Given the description of an element on the screen output the (x, y) to click on. 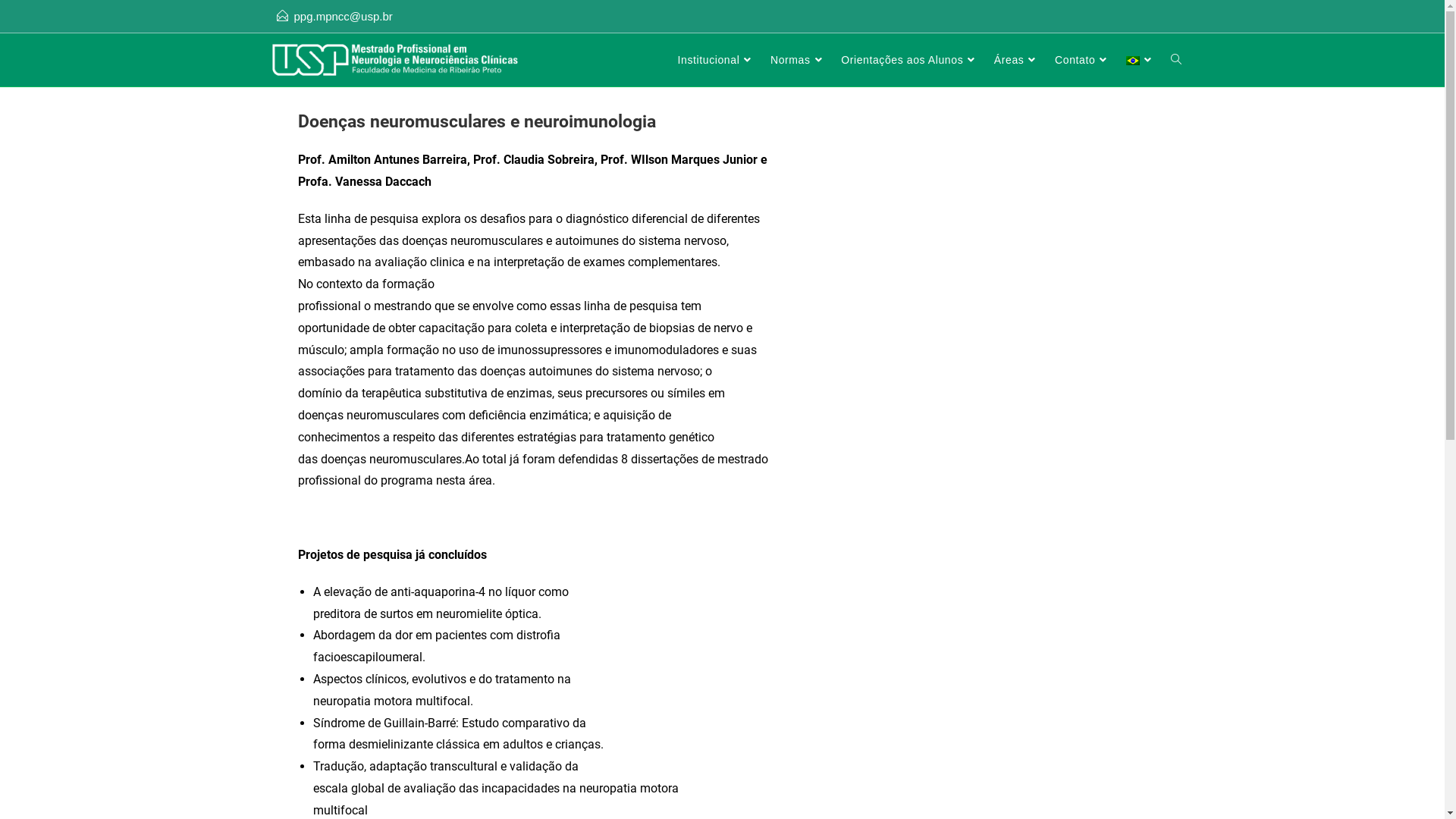
ppg.mpncc@usp.br Element type: text (343, 15)
Contato Element type: text (1082, 59)
Normas Element type: text (797, 59)
Institucional Element type: text (716, 59)
